Given the description of an element on the screen output the (x, y) to click on. 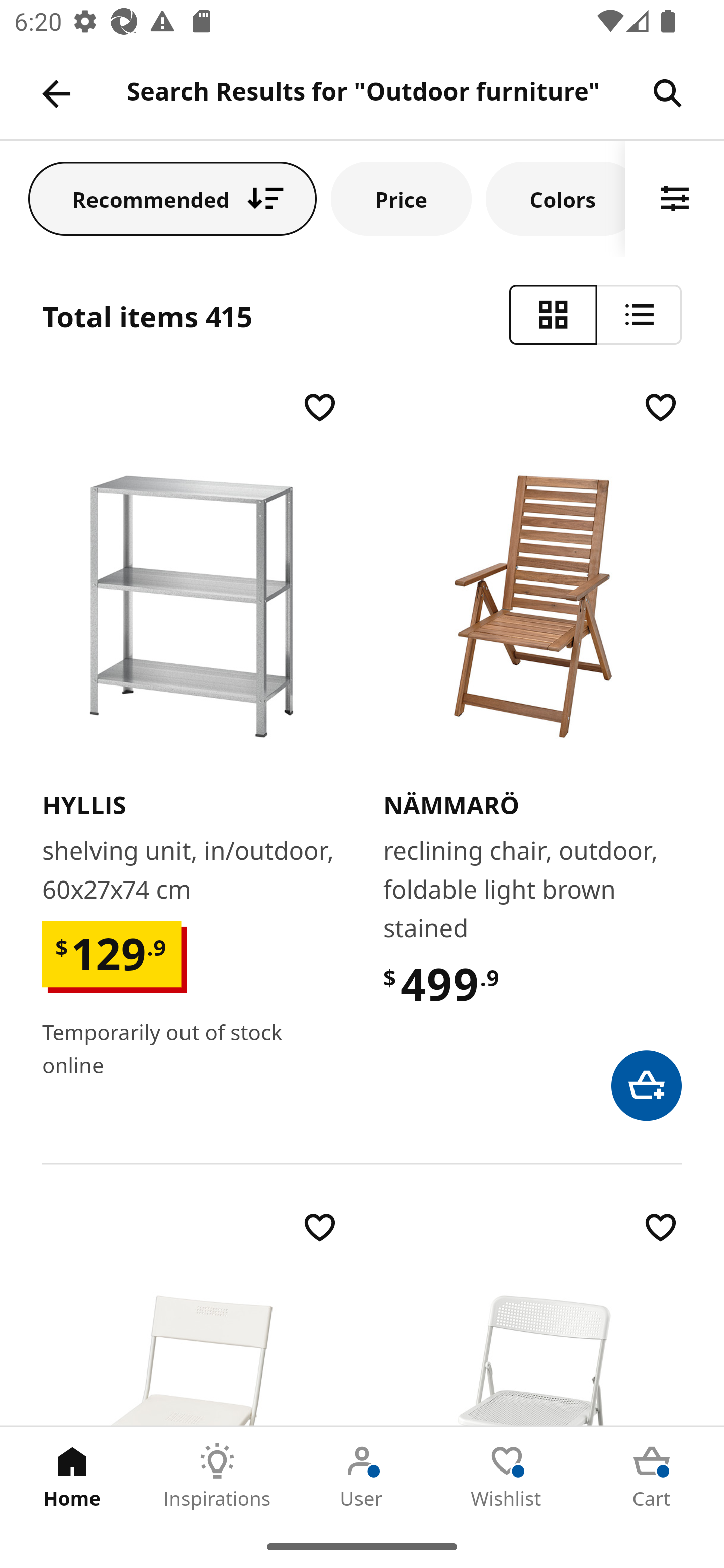
Recommended (172, 198)
Price (400, 198)
Colors (555, 198)
Home
Tab 1 of 5 (72, 1476)
Inspirations
Tab 2 of 5 (216, 1476)
User
Tab 3 of 5 (361, 1476)
Wishlist
Tab 4 of 5 (506, 1476)
Cart
Tab 5 of 5 (651, 1476)
